Given the description of an element on the screen output the (x, y) to click on. 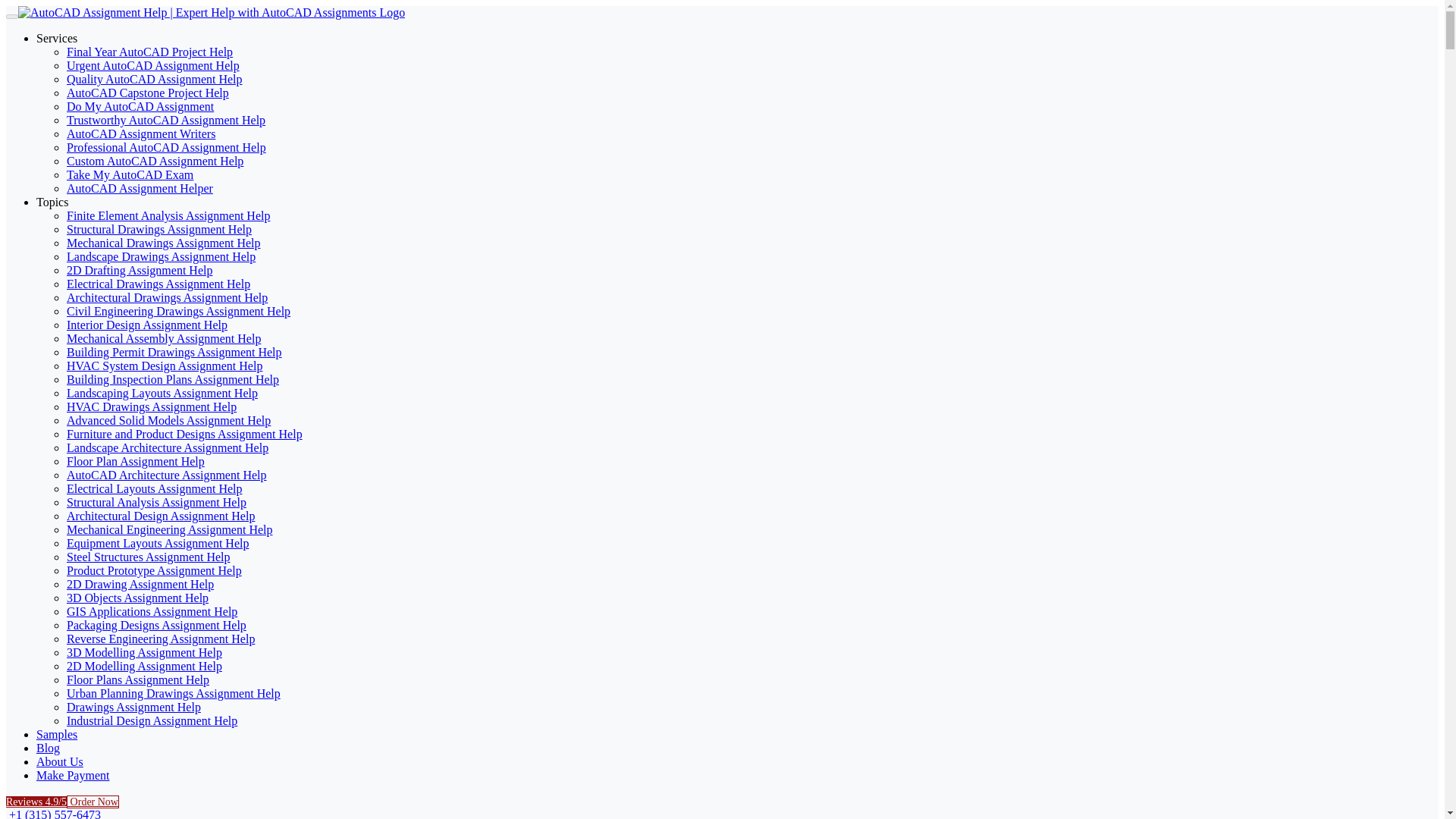
Professional AutoCAD Assignment Help (166, 146)
Structural Analysis Assignment Help (156, 502)
Electrical Drawings Assignment Help (158, 283)
Architectural Design Assignment Help (160, 515)
Civil Engineering Drawings Assignment Help (177, 310)
Equipment Layouts Assignment Help (157, 543)
Building Inspection Plans Assignment Help (172, 379)
Mechanical Engineering Assignment Help (169, 529)
2D Drafting Assignment Help (139, 269)
Quality AutoCAD Assignment Help (154, 78)
